Given the description of an element on the screen output the (x, y) to click on. 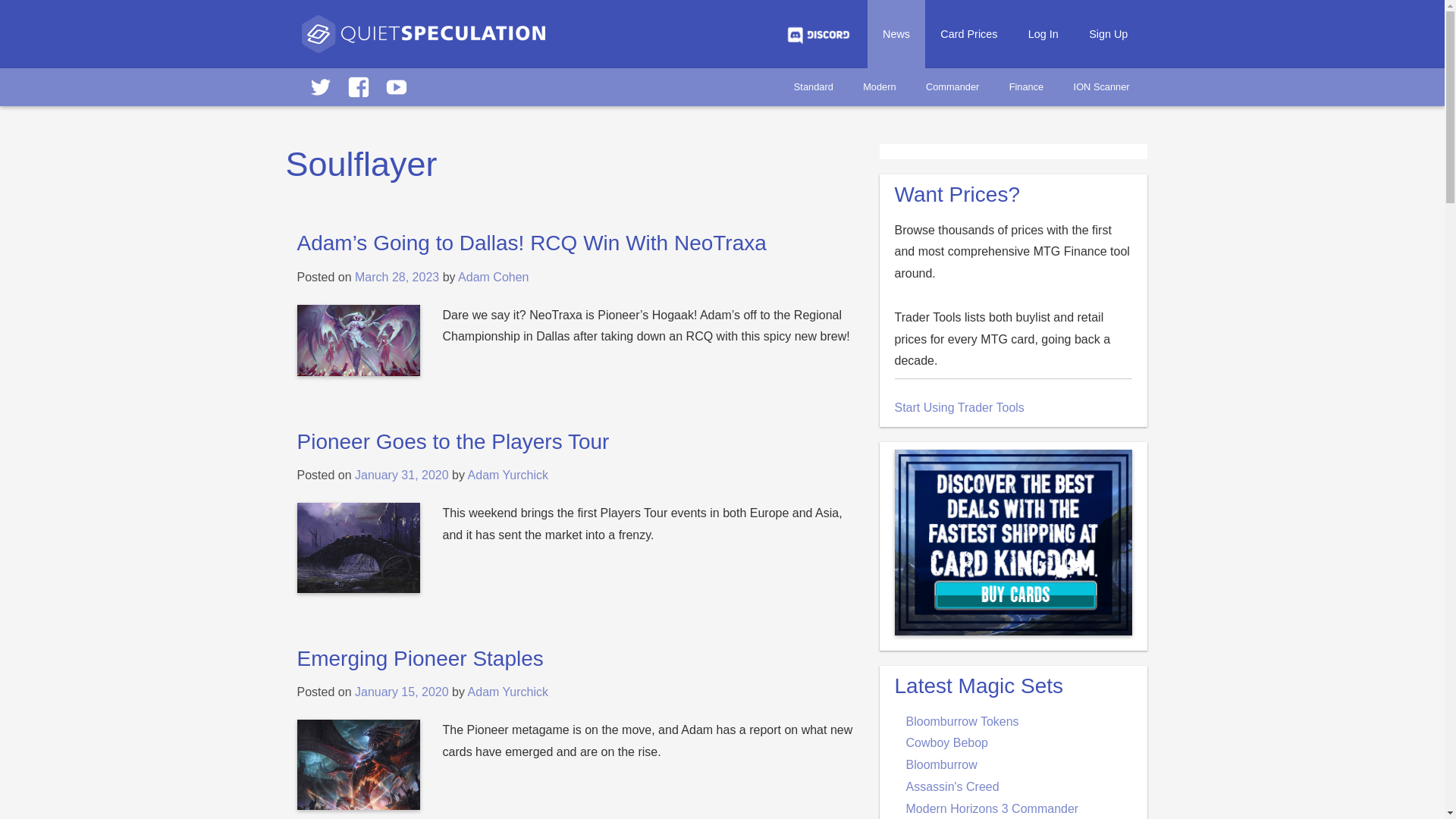
Standard (813, 86)
ION Scanner (1100, 86)
Log In (1043, 33)
Homepage (422, 41)
January 15, 2020 (401, 691)
Card Prices (967, 33)
Finance (1026, 86)
Adam Yurchick (507, 474)
Commander (952, 86)
Adam Yurchick (507, 691)
Emerging Pioneer Staples (420, 658)
Modern (878, 86)
January 31, 2020 (401, 474)
Sign Up (1108, 33)
March 28, 2023 (397, 277)
